Given the description of an element on the screen output the (x, y) to click on. 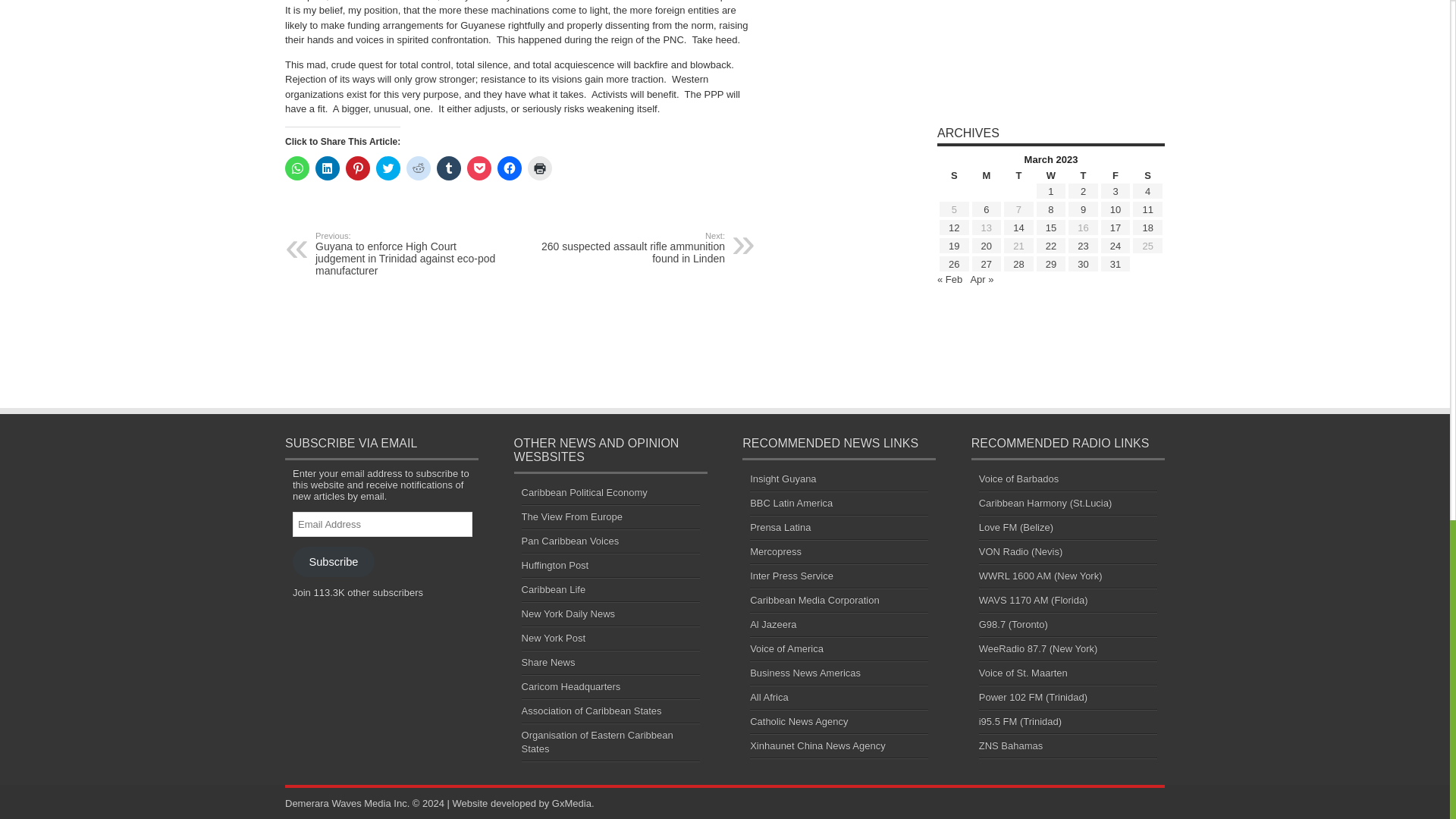
Click to share on WhatsApp (296, 168)
Click to share on Tumblr (448, 168)
Click to share on Twitter (387, 168)
Click to share on LinkedIn (327, 168)
Click to share on Pinterest (357, 168)
Click to share on Reddit (418, 168)
